Given the description of an element on the screen output the (x, y) to click on. 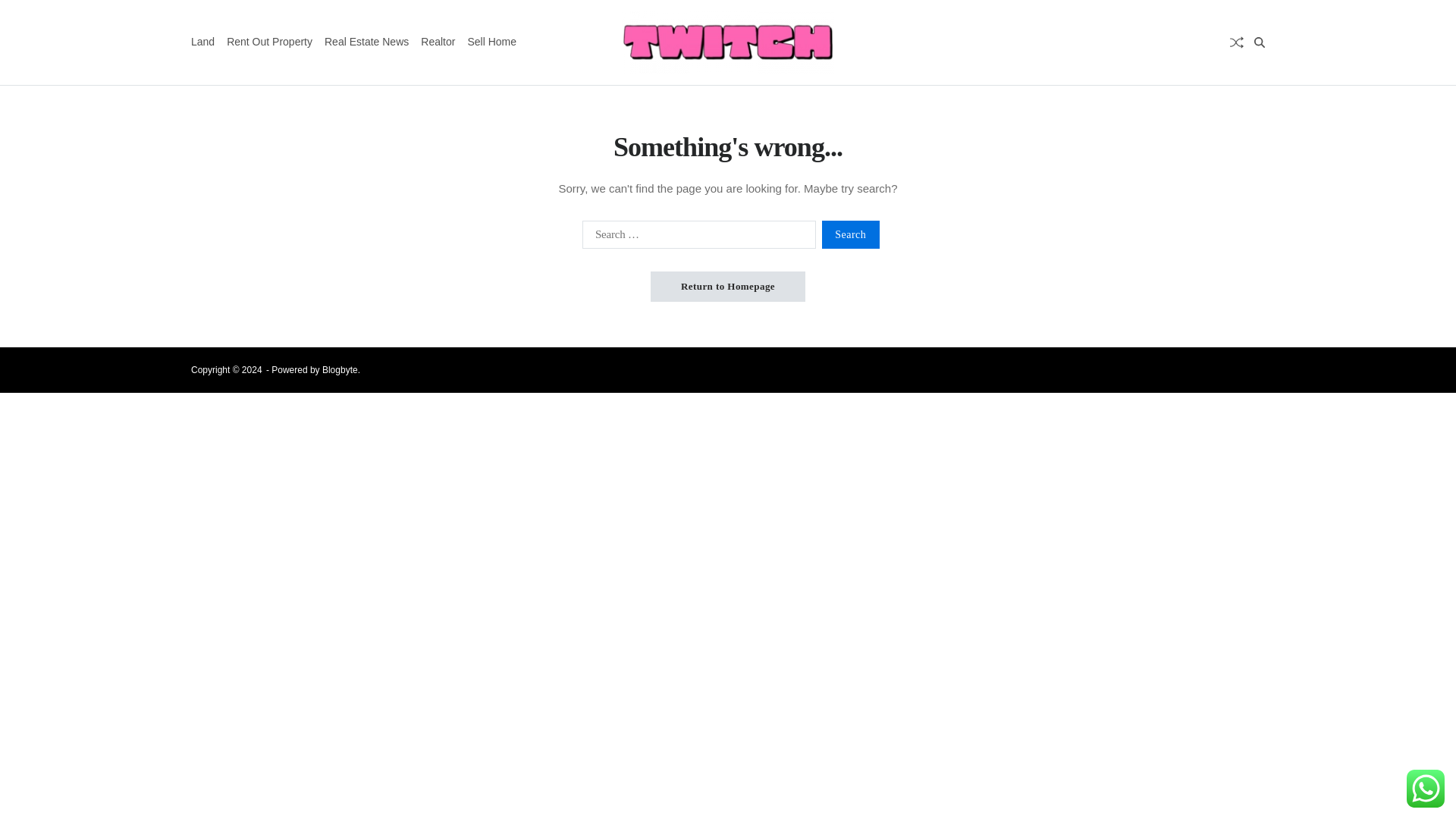
Search (850, 234)
Realtor (437, 41)
Rent Out Property (270, 41)
Random Article (1236, 42)
Real Estate News (366, 41)
Search (850, 234)
Sell Home (491, 41)
Land (202, 41)
Search (850, 234)
Search (1221, 95)
Return to Homepage (727, 286)
Blogbyte (339, 369)
